Given the description of an element on the screen output the (x, y) to click on. 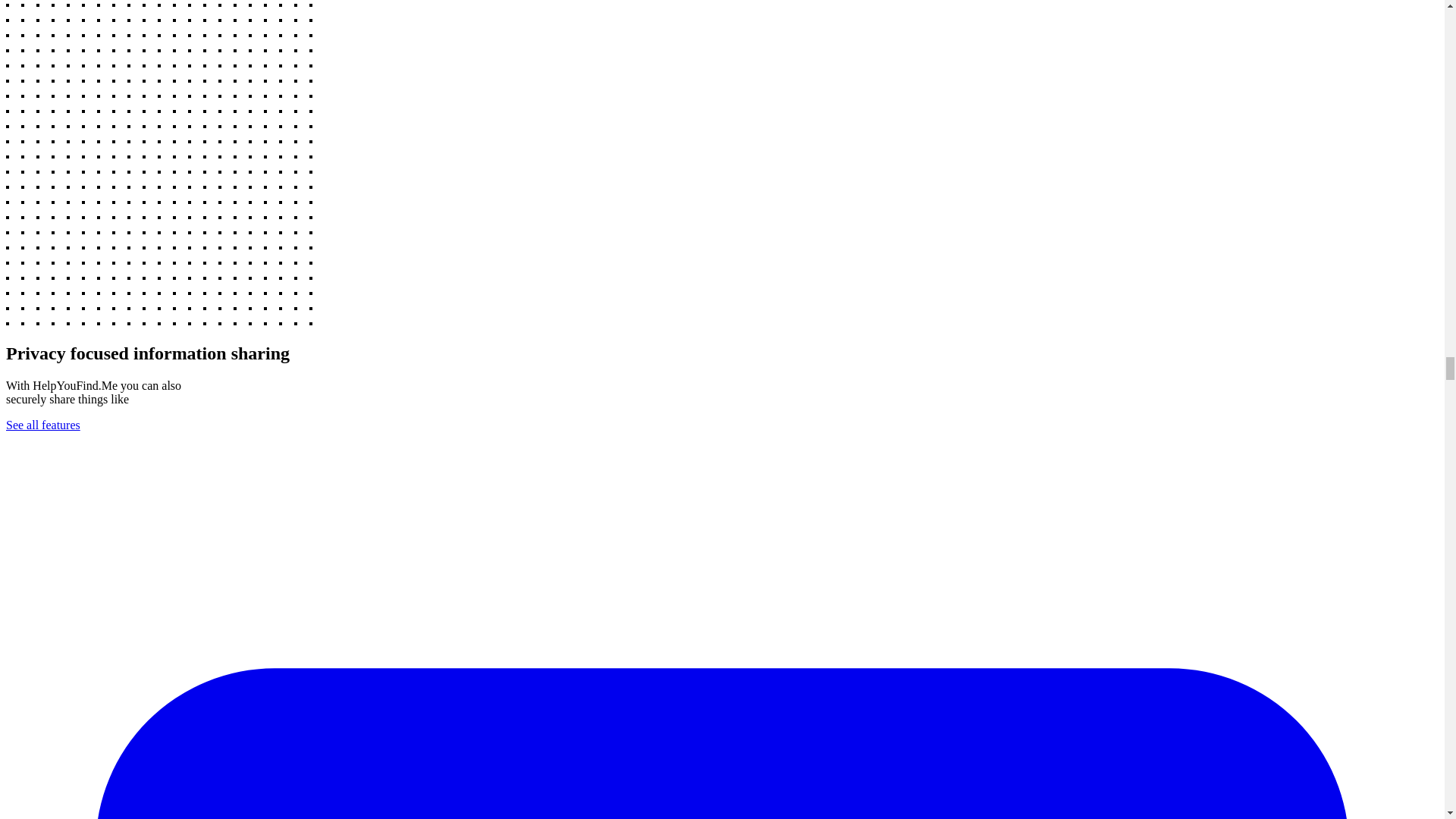
See all features (42, 424)
